Given the description of an element on the screen output the (x, y) to click on. 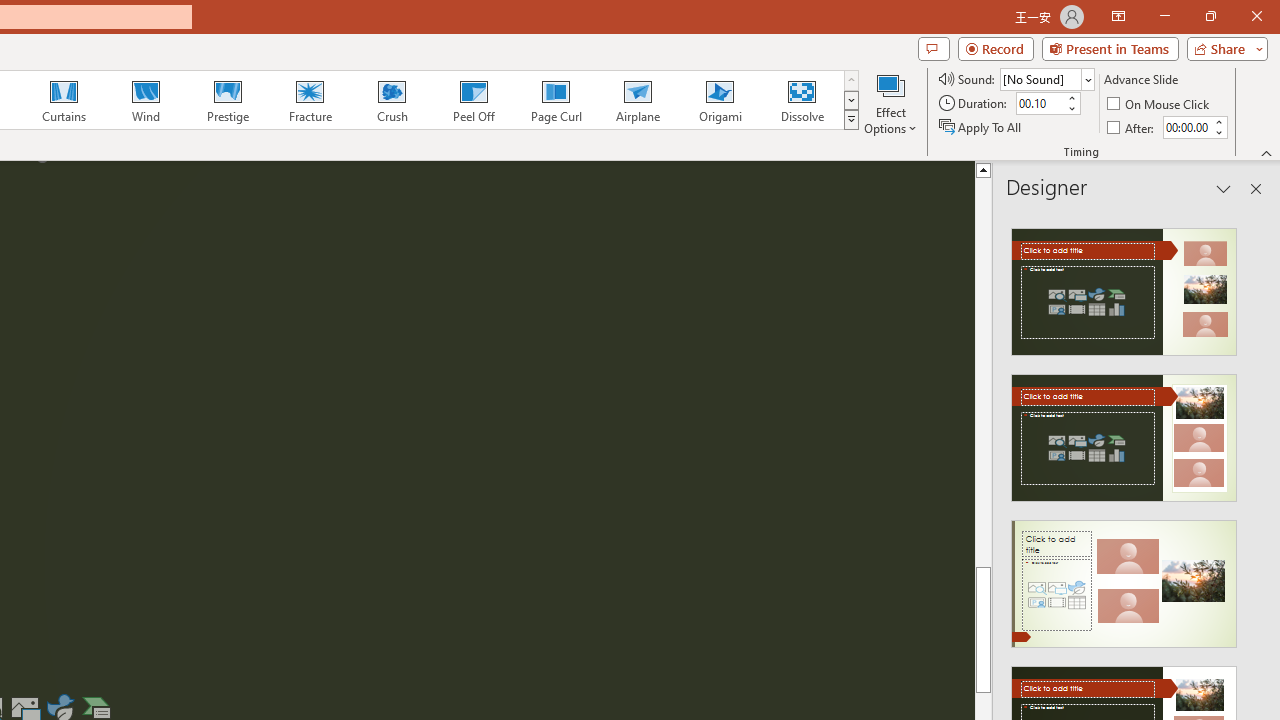
Sound (1046, 78)
Wind (145, 100)
Airplane (637, 100)
Origami (719, 100)
Page Curl (555, 100)
